Given the description of an element on the screen output the (x, y) to click on. 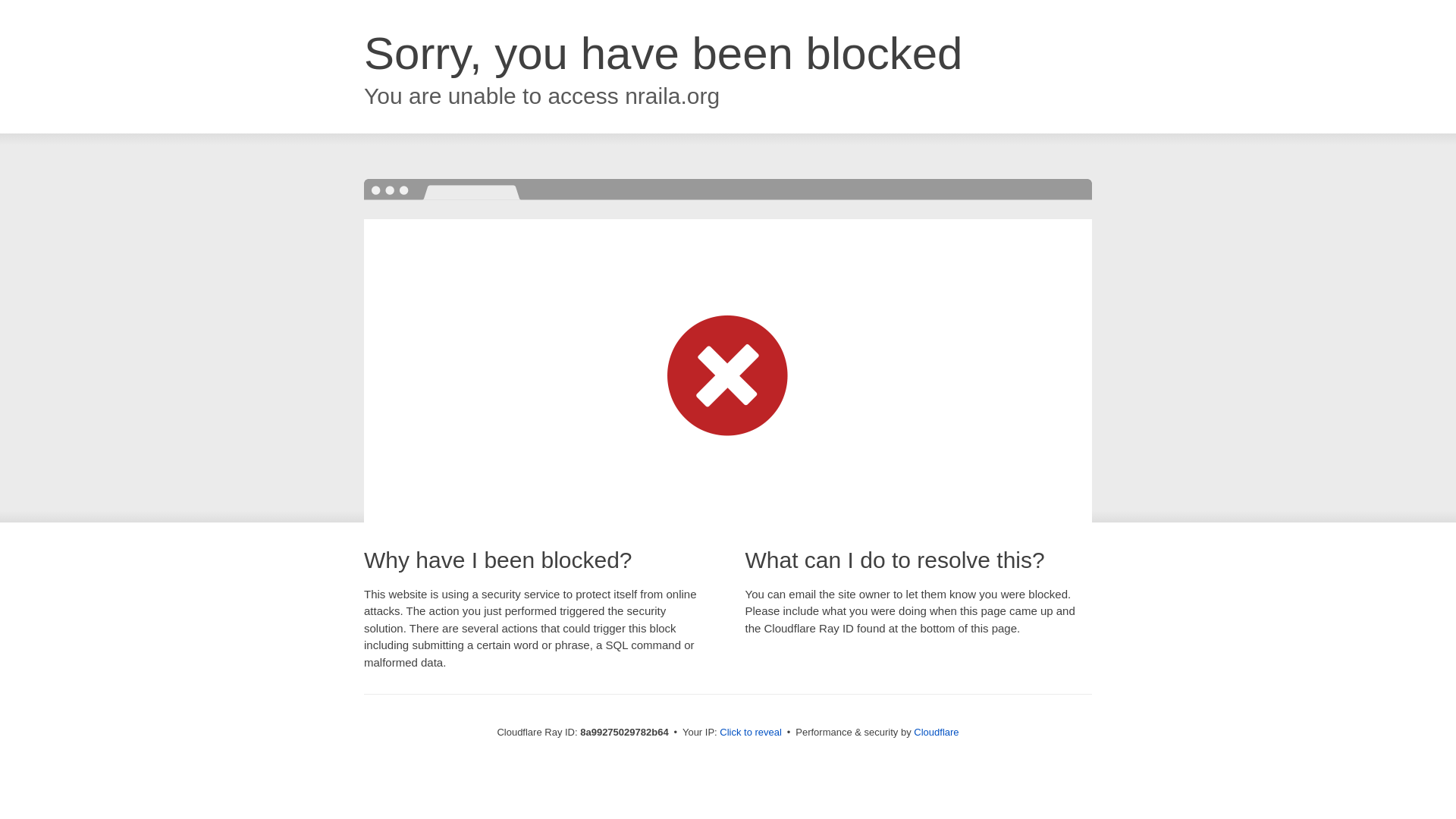
Click to reveal (750, 732)
Cloudflare (936, 731)
